Given the description of an element on the screen output the (x, y) to click on. 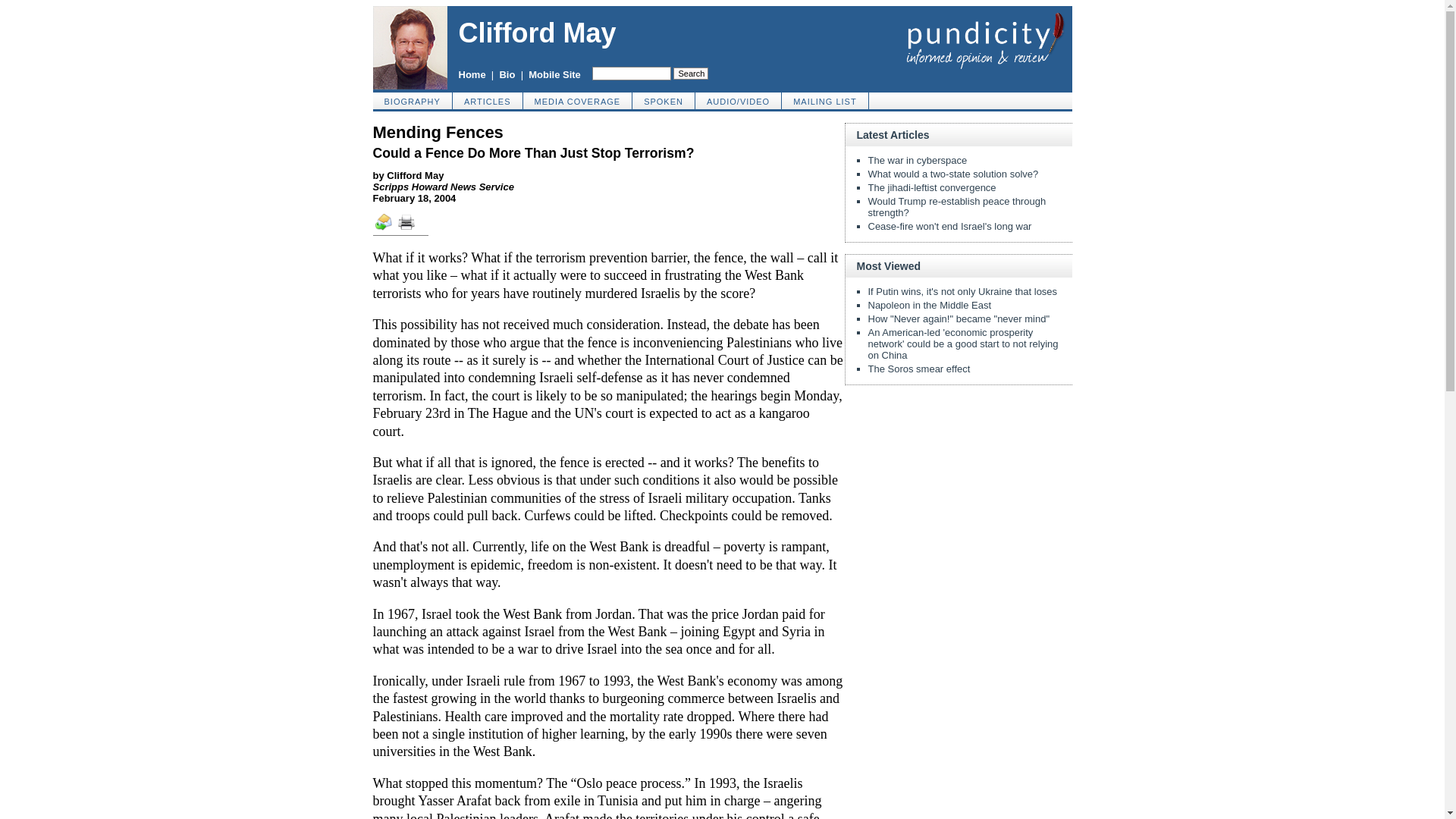
The Soros smear effect (918, 368)
ARTICLES (487, 100)
Mobile Site (554, 74)
If Putin wins, it's not only Ukraine that loses (962, 291)
Search (689, 73)
Search (689, 73)
Print (411, 226)
Send (383, 228)
What would a two-state solution solve? (952, 173)
Home (471, 74)
Would Trump re-establish peace through strength? (956, 206)
Cease-fire won't end Israel's long war (948, 225)
MEDIA COVERAGE (577, 100)
The war in cyberspace (916, 160)
